Given the description of an element on the screen output the (x, y) to click on. 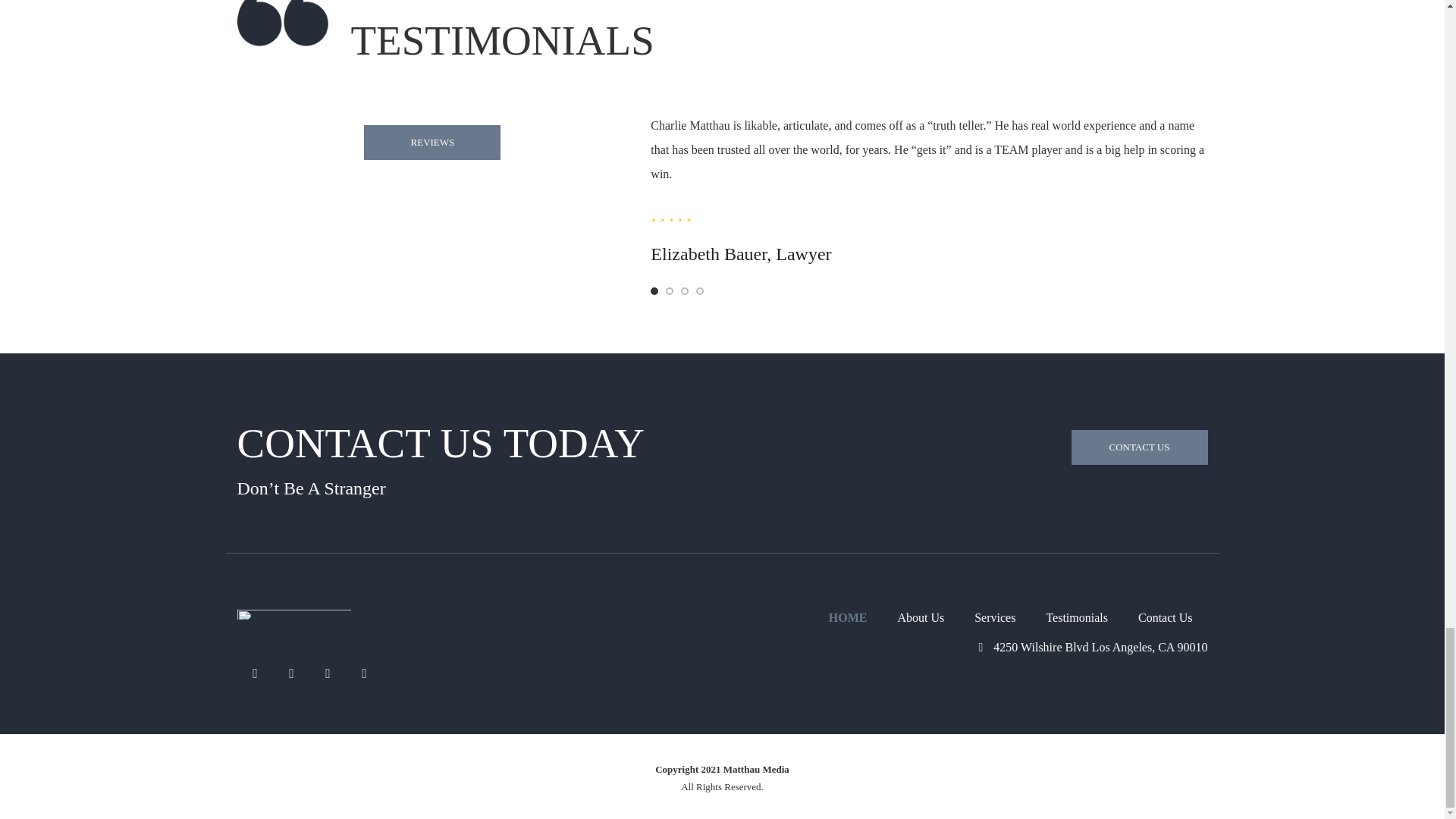
Contact Us (1165, 617)
CONTACT US (1138, 447)
Contact Us (1138, 447)
Services (994, 617)
REVIEWS (432, 142)
Matthau Media (292, 614)
Testimonials (432, 142)
Testimonials (1076, 617)
4250 Wilshire Blvd Los Angeles, CA 90010 (1092, 646)
About Us (920, 617)
HOME (848, 617)
